Given the description of an element on the screen output the (x, y) to click on. 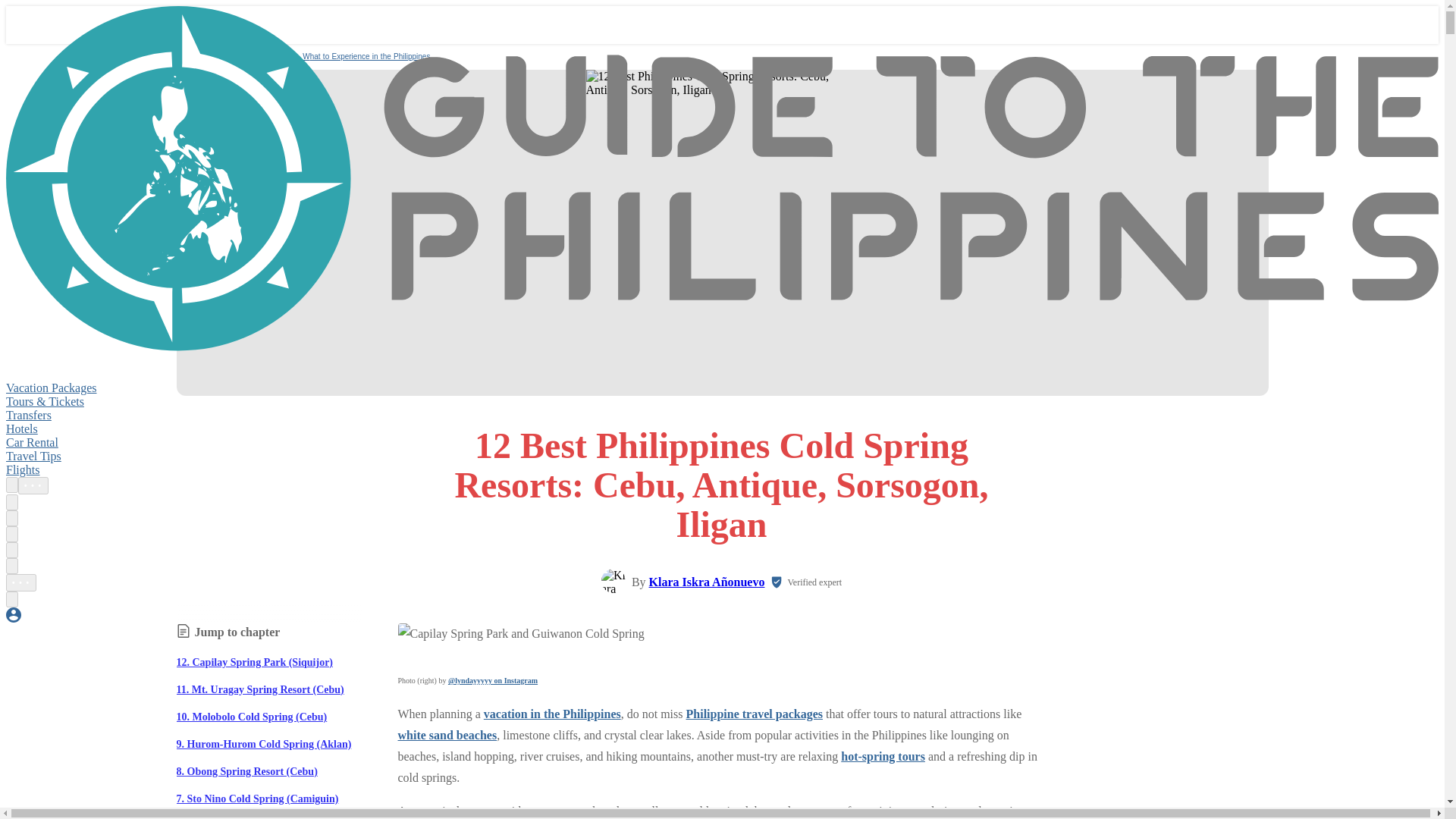
Philippine travel packages (753, 713)
Flights (22, 469)
Transfers (27, 414)
vacation in the Philippines (552, 713)
Explore the Philippines (255, 56)
Vacation Packages (51, 387)
What to Experience in the Philippines (365, 56)
Hotels (21, 428)
Capilay Spring Park and Guiwanon Cold Spring (520, 633)
